Given the description of an element on the screen output the (x, y) to click on. 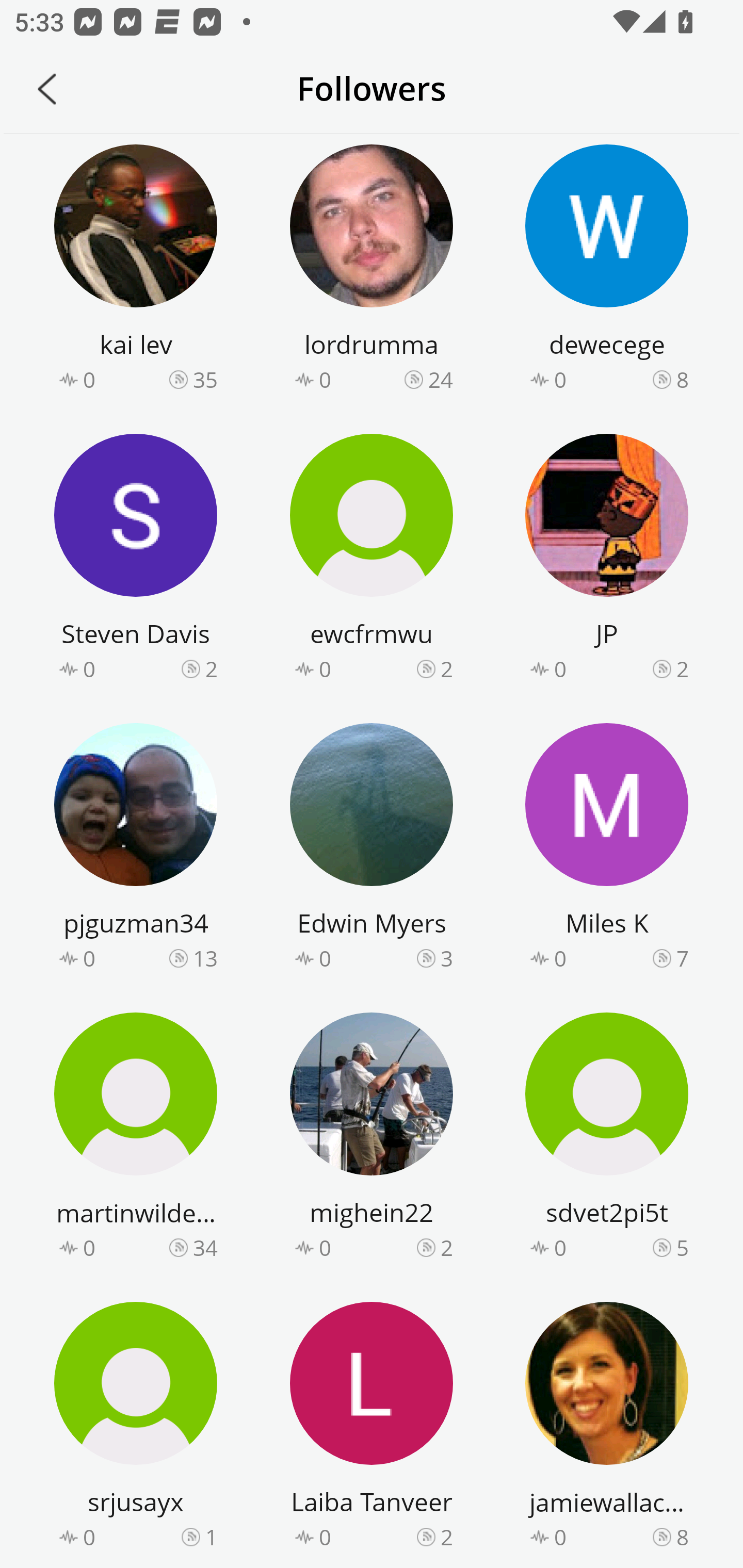
Back (46, 88)
kai lev 0 35 (135, 271)
lordrumma 0 24 (371, 271)
dewecege 0 8 (606, 271)
35 (205, 380)
24 (440, 380)
8 (682, 380)
Steven Davis 0 2 (135, 560)
ewcfrmwu 0 2 (371, 560)
JP 0 2 (606, 560)
2 (211, 668)
2 (446, 668)
2 (682, 668)
pjguzman34 0 13 (135, 849)
Edwin Myers 0 3 (371, 849)
Miles K 0 7 (606, 849)
13 (205, 958)
3 (446, 958)
7 (682, 958)
martinwildenschild 0 34 (135, 1138)
mighein22 0 2 (371, 1138)
sdvet2pi5t 0 5 (606, 1138)
34 (205, 1247)
2 (446, 1247)
5 (682, 1247)
srjusayx 0 1 (135, 1428)
Laiba Tanveer 0 2 (371, 1428)
jamiewallacevigil 0 8 (606, 1428)
1 (211, 1537)
2 (446, 1537)
8 (682, 1537)
